Given the description of an element on the screen output the (x, y) to click on. 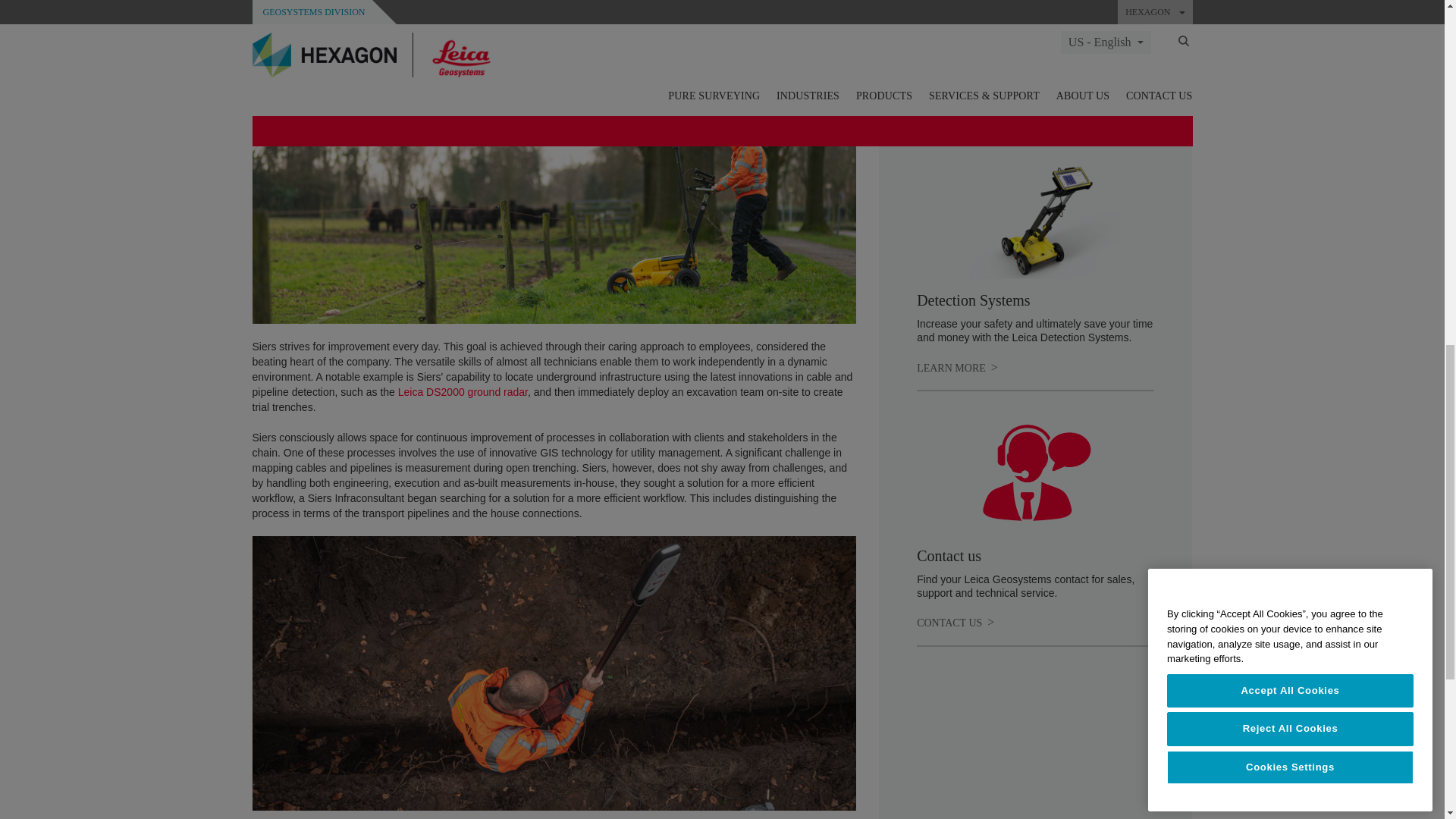
Leica Zeno FLX100 plus Smart Antenna  (957, 112)
Detection Systems (957, 367)
